Given the description of an element on the screen output the (x, y) to click on. 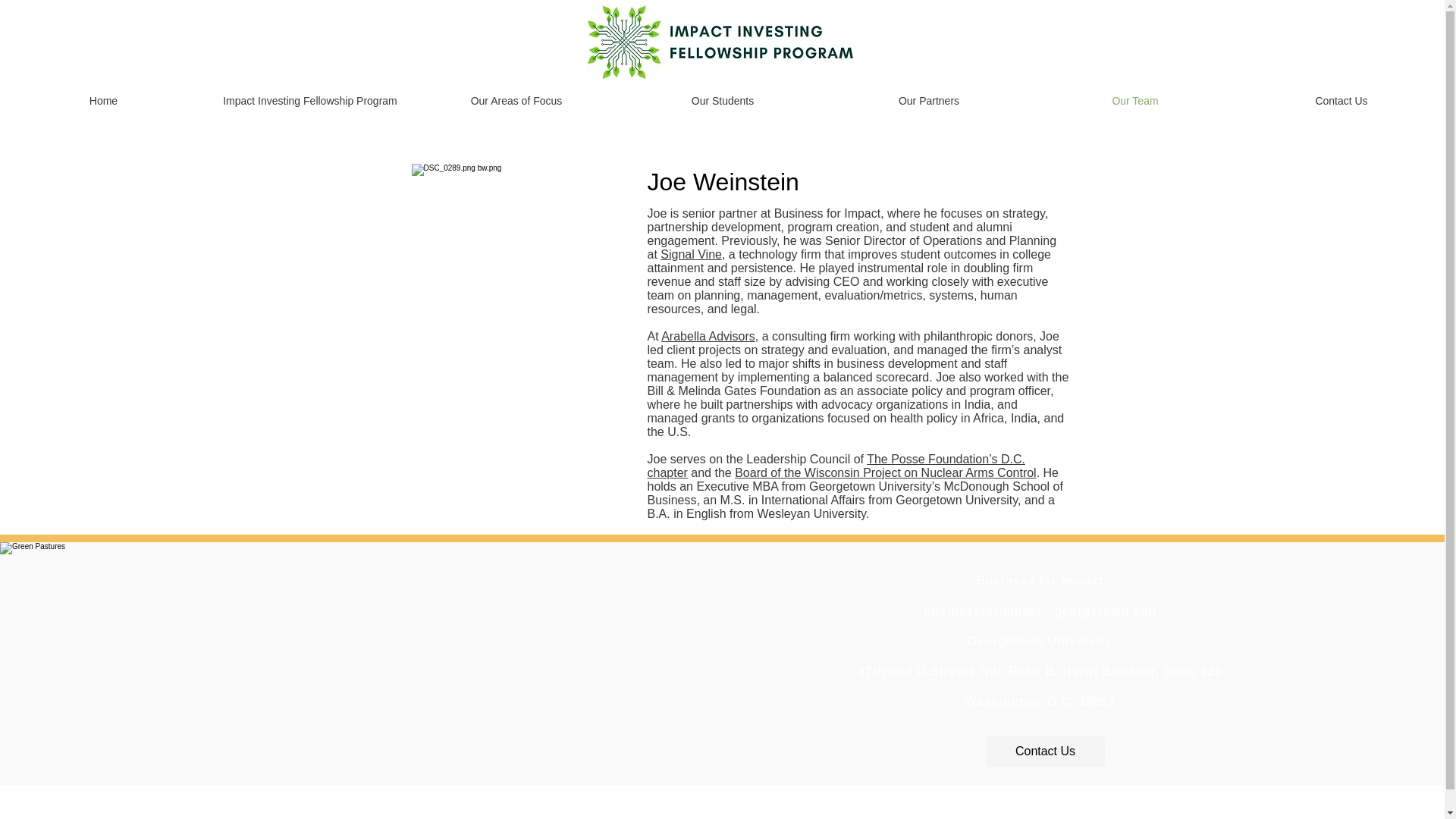
Arabella Advisors (708, 336)
Contact Us (1044, 751)
Signal Vine (691, 254)
Board of the Wisconsin Project on Nuclear Arms Control (885, 472)
Home (103, 101)
Our Areas of Focus (516, 101)
Our Team (1135, 101)
Impact Investing Fellowship Program (309, 101)
Our Partners (928, 101)
Our Students (722, 101)
